Given the description of an element on the screen output the (x, y) to click on. 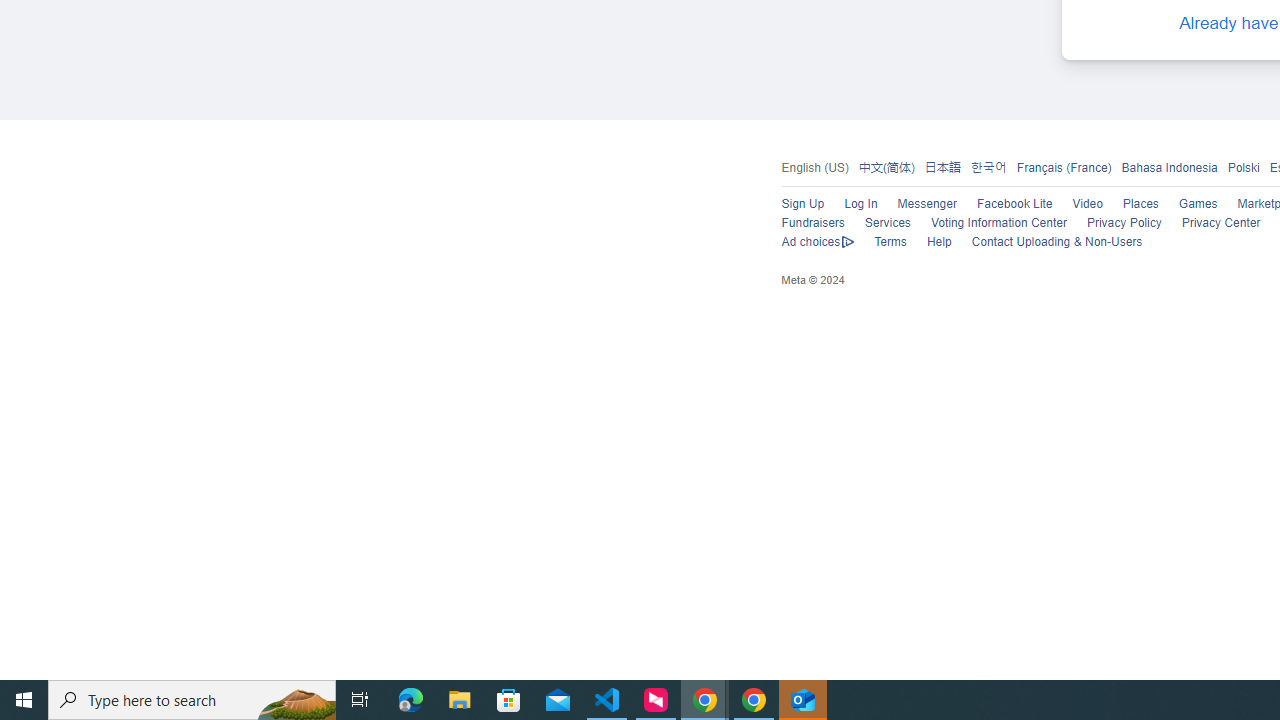
Voting Information Center (998, 223)
Contact Uploading & Non-Users (1057, 241)
Messenger (927, 204)
Facebook Lite (1014, 204)
Services (887, 223)
Help (938, 241)
Places (1140, 204)
Bahasa Indonesia (1169, 166)
Fundraisers (812, 223)
Polski (1243, 166)
Privacy Policy (1123, 223)
Terms (890, 241)
Ad choices (817, 242)
